Given the description of an element on the screen output the (x, y) to click on. 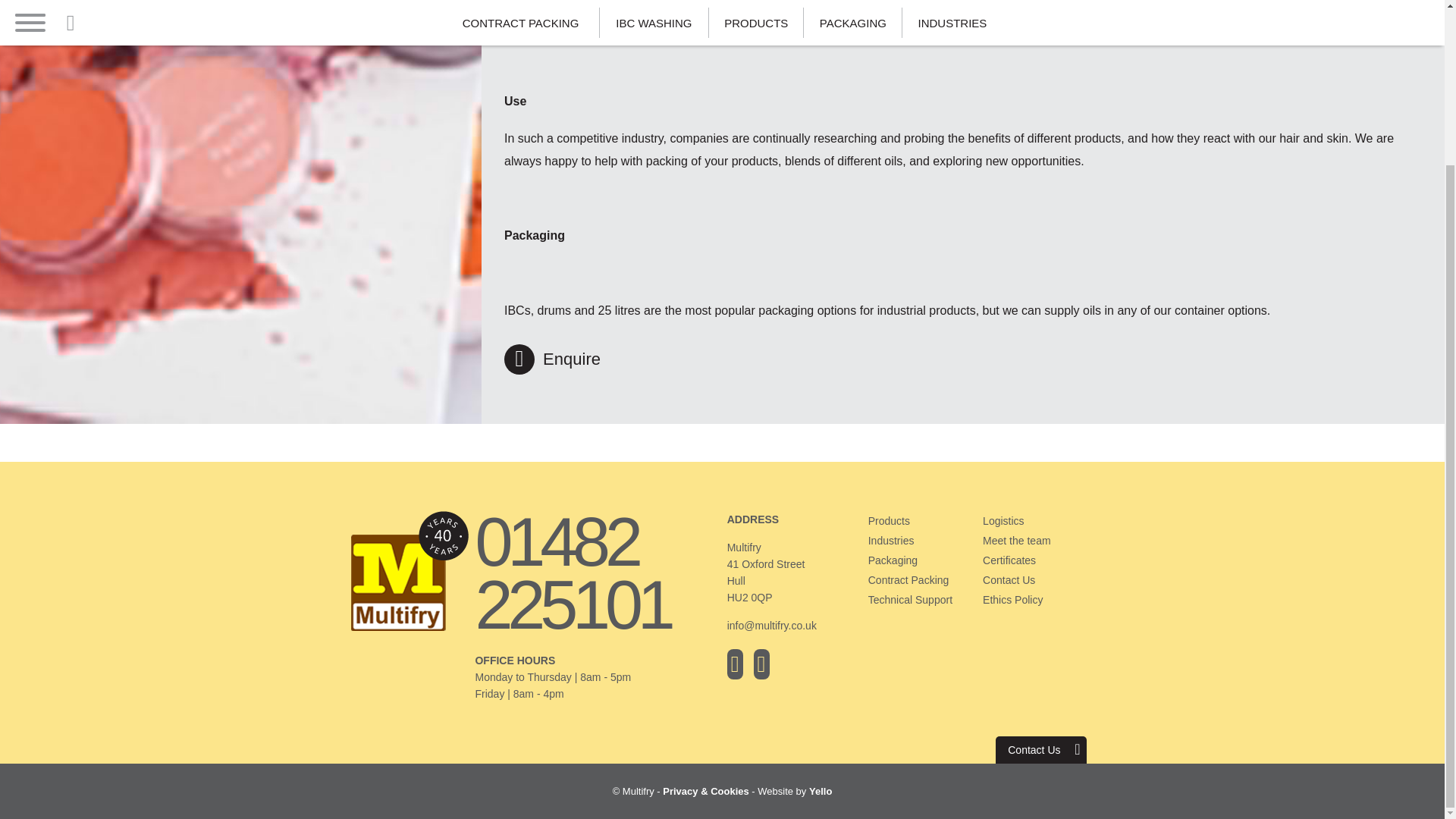
Meet the team (1037, 540)
Call us (595, 574)
Contact Us (1037, 579)
Certificates (1037, 560)
Enquire (551, 358)
Contact Us (1040, 749)
Contract Packing (922, 579)
Multifry Hull (408, 634)
01482 225101 (595, 574)
Contact Us (1040, 749)
